Given the description of an element on the screen output the (x, y) to click on. 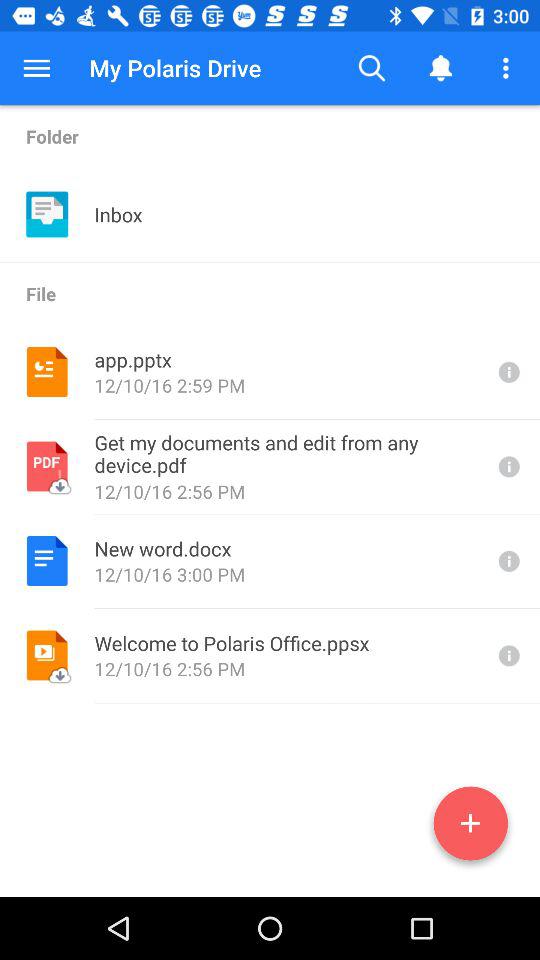
more information (507, 371)
